Given the description of an element on the screen output the (x, y) to click on. 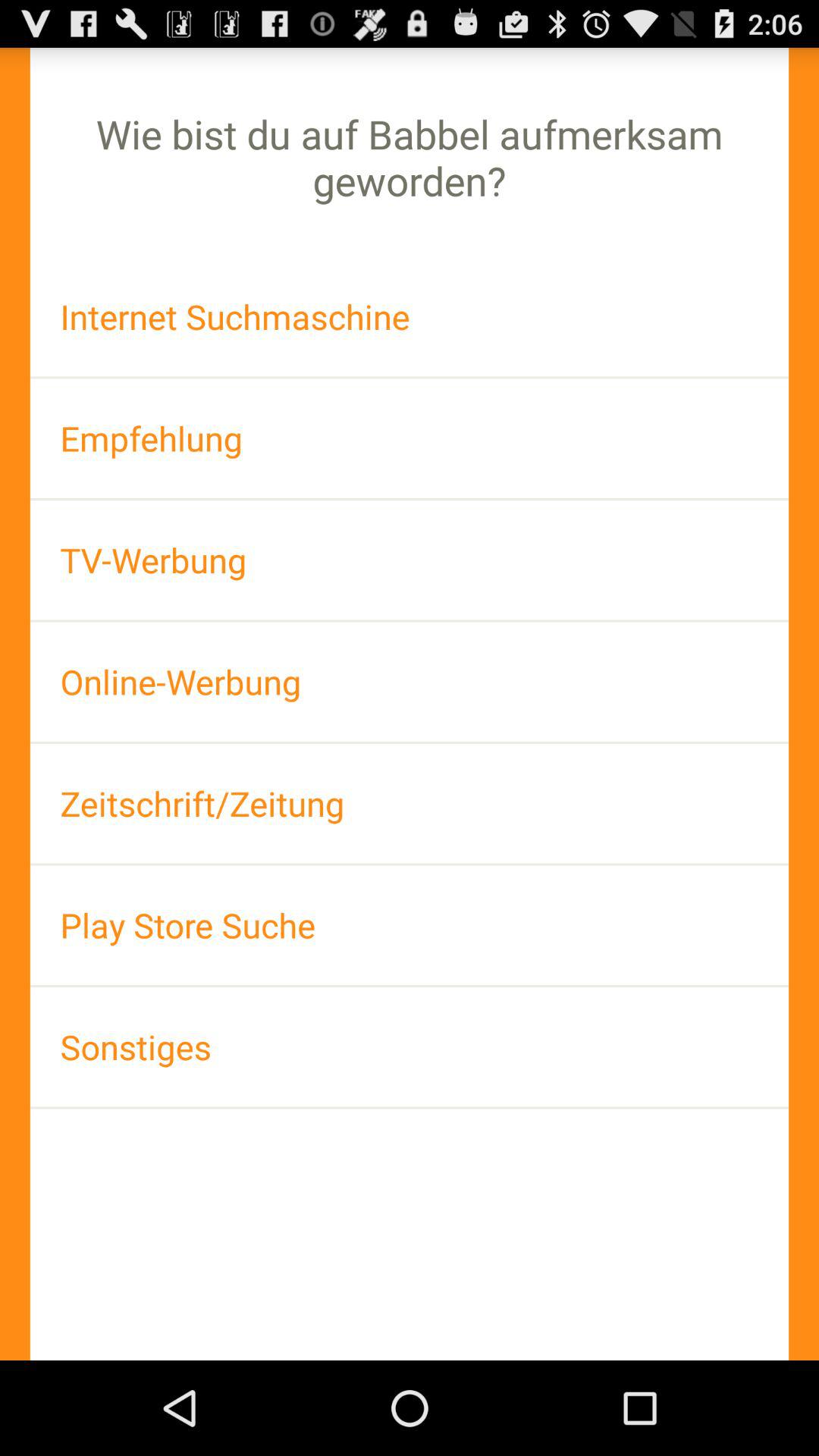
open app above sonstiges (409, 925)
